Given the description of an element on the screen output the (x, y) to click on. 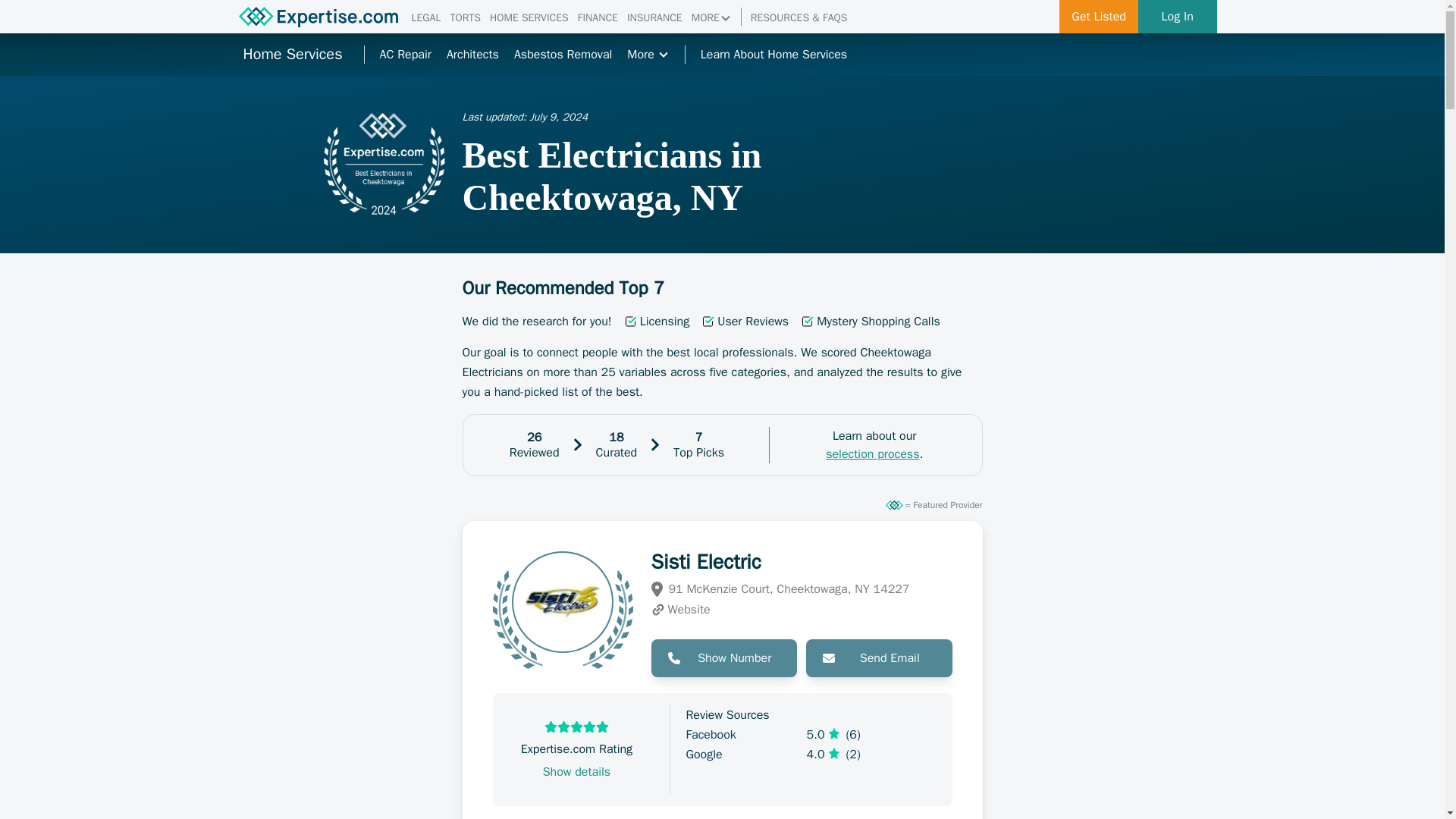
AC Repair (405, 54)
Home Services (291, 53)
FINANCE (597, 17)
Get Listed (1098, 16)
INSURANCE (654, 17)
Log In (1177, 16)
TORTS (464, 17)
MORE (711, 17)
Architects (472, 54)
Asbestos Removal (562, 54)
LEGAL (425, 17)
HOME SERVICES (529, 17)
More (647, 54)
